Given the description of an element on the screen output the (x, y) to click on. 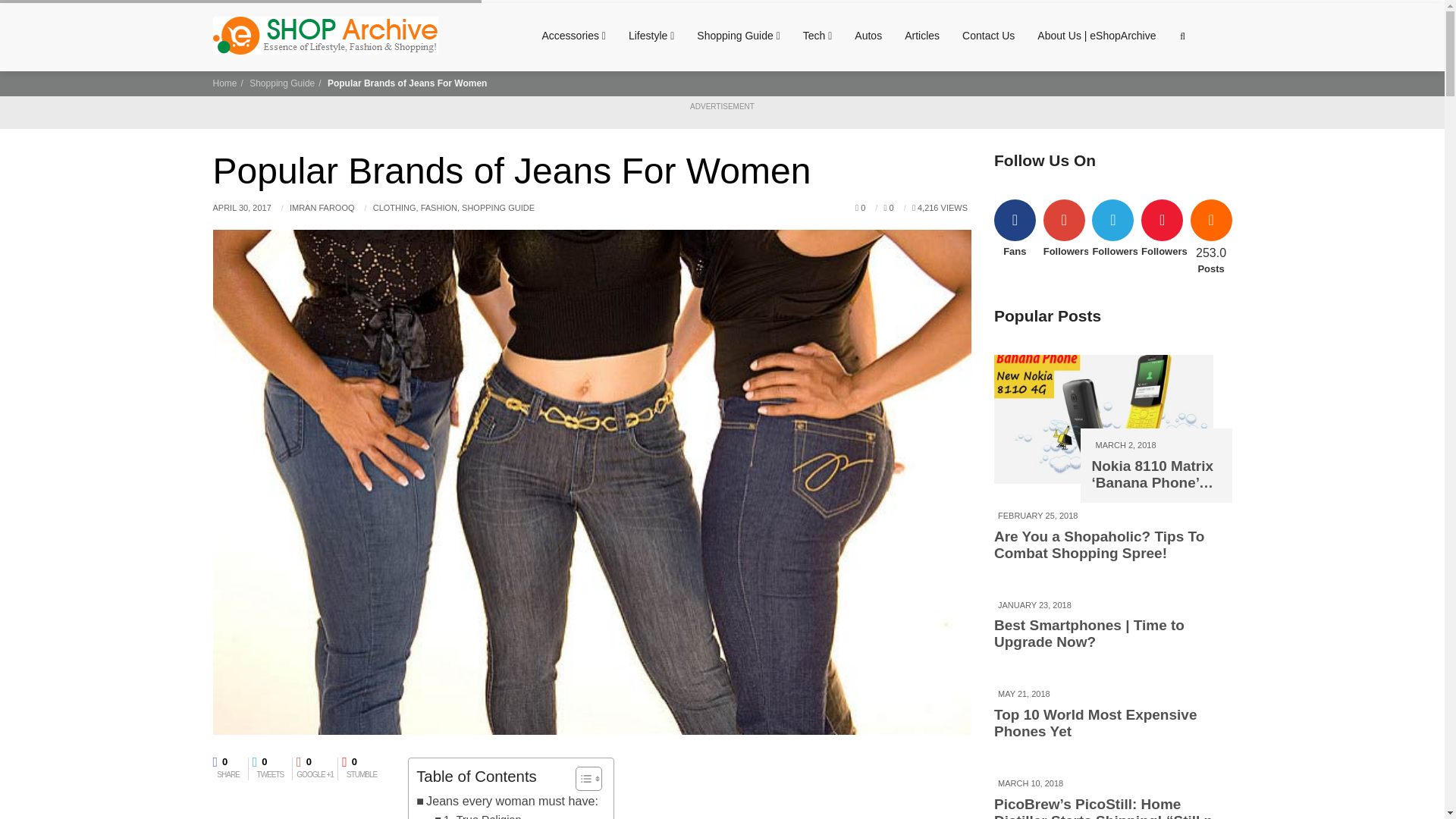
SHOPPING GUIDE (497, 207)
IMRAN FAROOQ (322, 207)
0 (860, 207)
Accessories (269, 768)
Tech (572, 35)
Lifestyle (818, 35)
Articles (651, 35)
Home (227, 768)
